Given the description of an element on the screen output the (x, y) to click on. 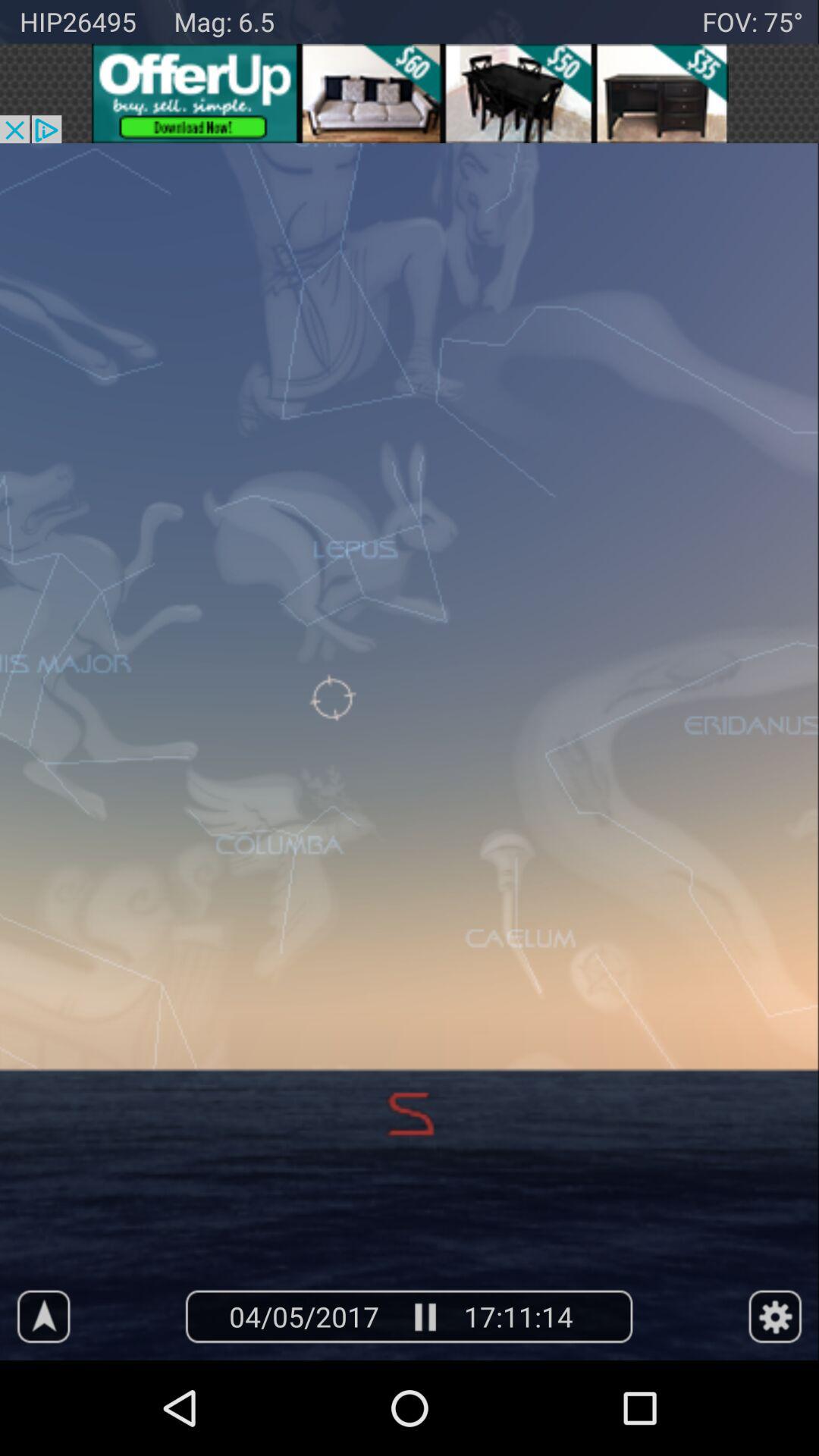
pause (423, 1316)
